Given the description of an element on the screen output the (x, y) to click on. 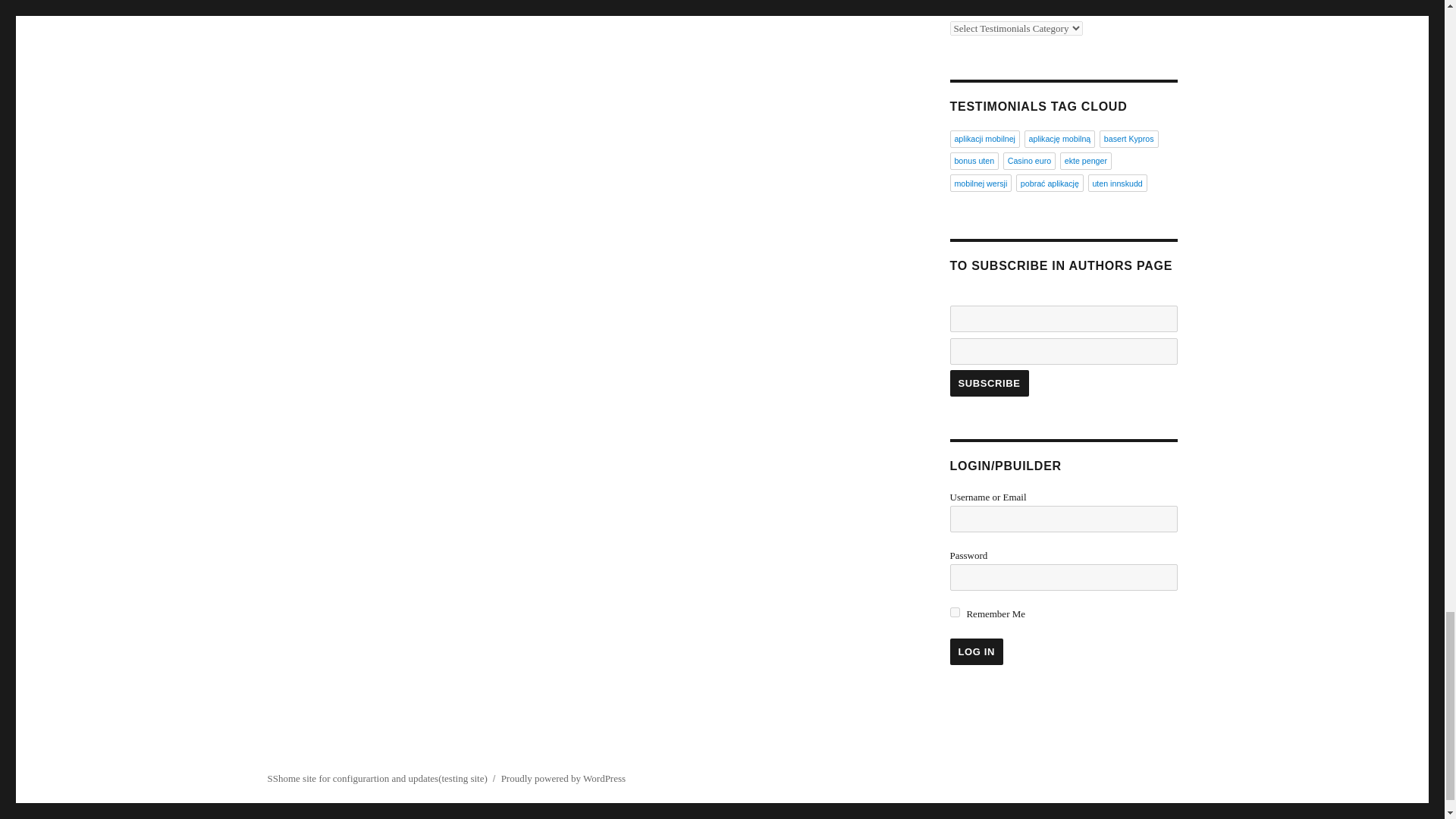
Subscribe (988, 383)
forever (954, 612)
Log In (976, 651)
